Given the description of an element on the screen output the (x, y) to click on. 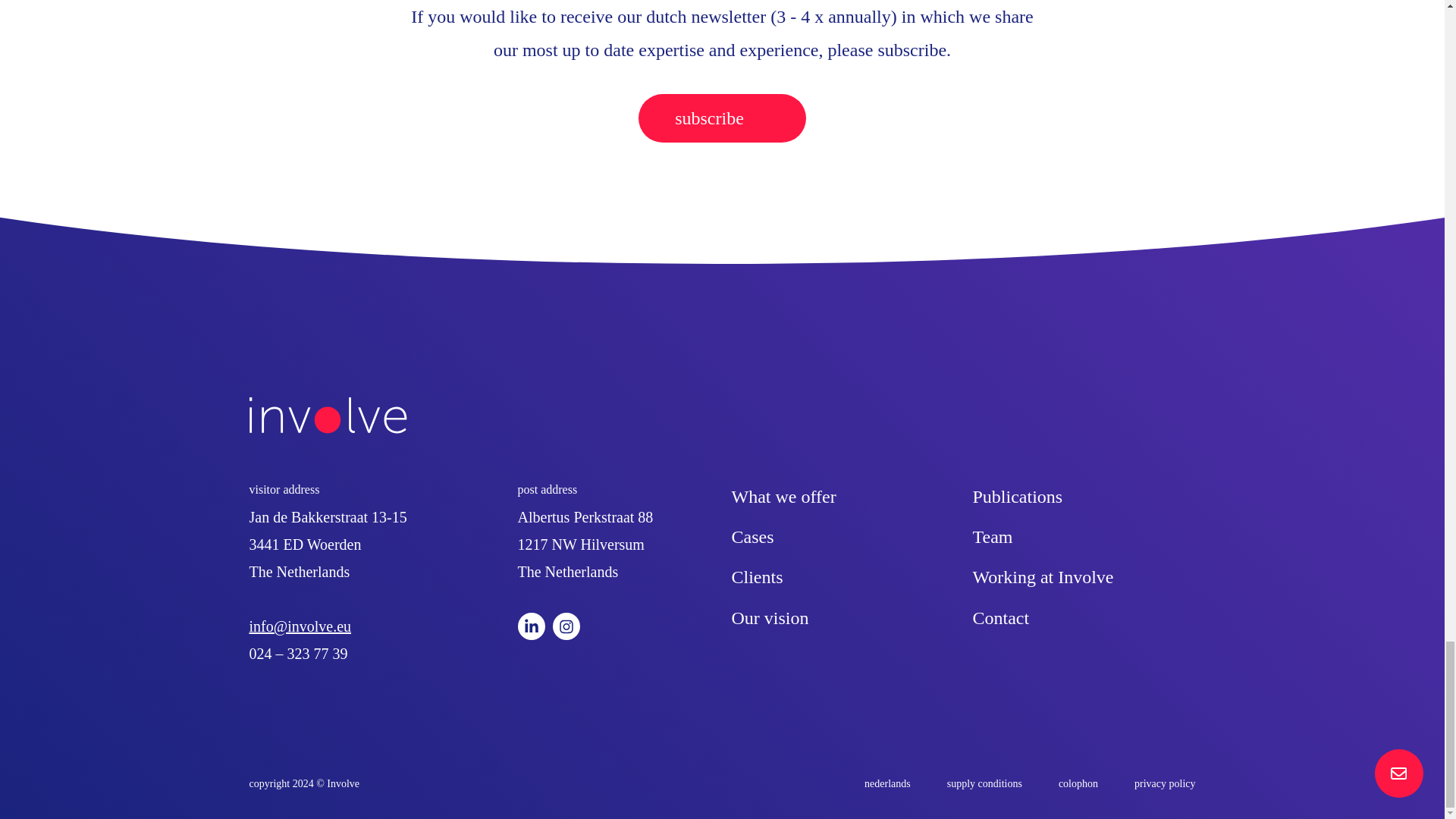
subscribe (722, 118)
supply conditions (984, 783)
What we offer (782, 496)
nederlands (887, 783)
Cases (751, 537)
Working at Involve (1042, 577)
Our vision (769, 618)
Clients (756, 577)
Contact (1000, 618)
Team (991, 537)
Publications (1017, 496)
